Given the description of an element on the screen output the (x, y) to click on. 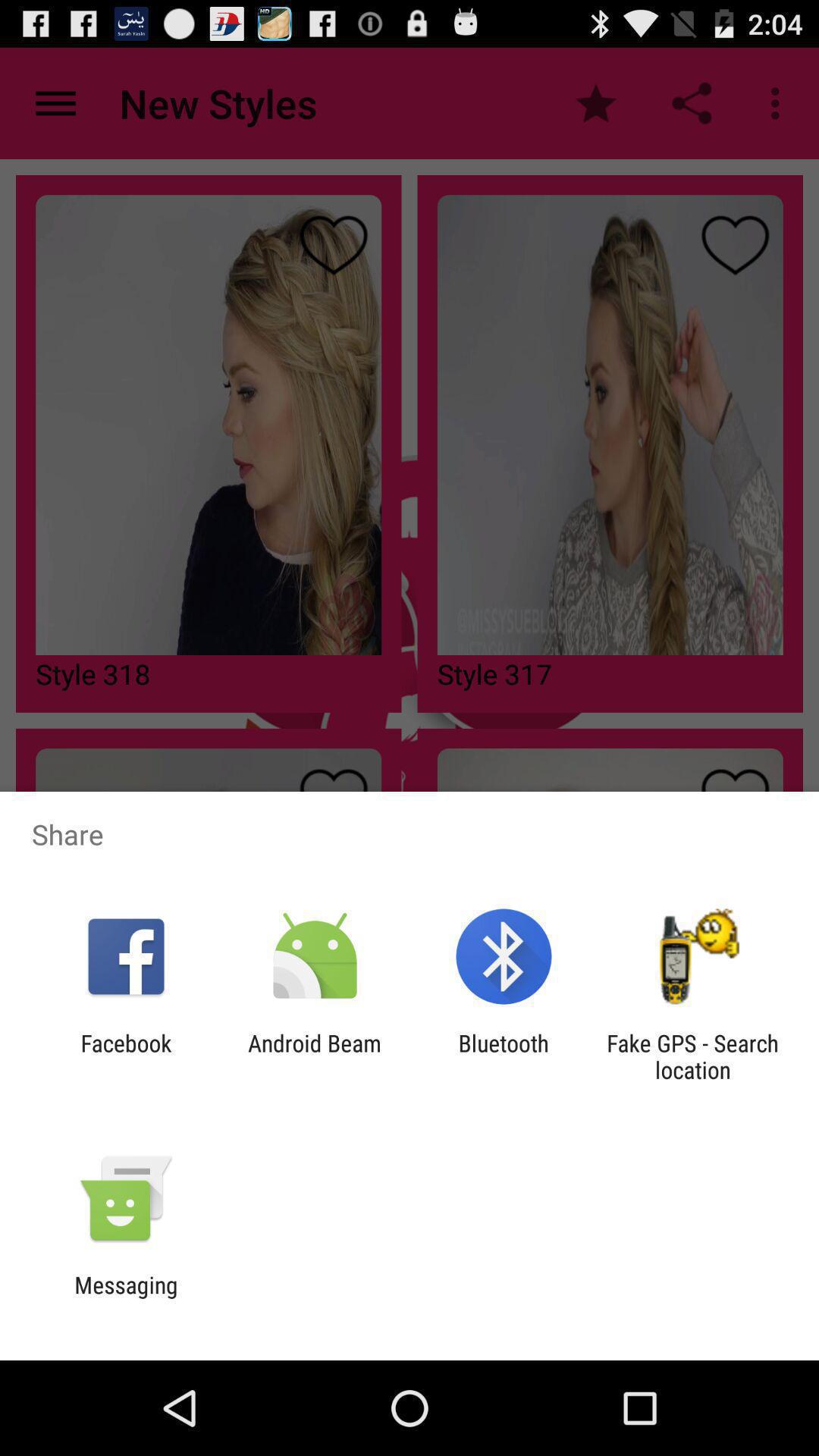
launch facebook app (125, 1056)
